Given the description of an element on the screen output the (x, y) to click on. 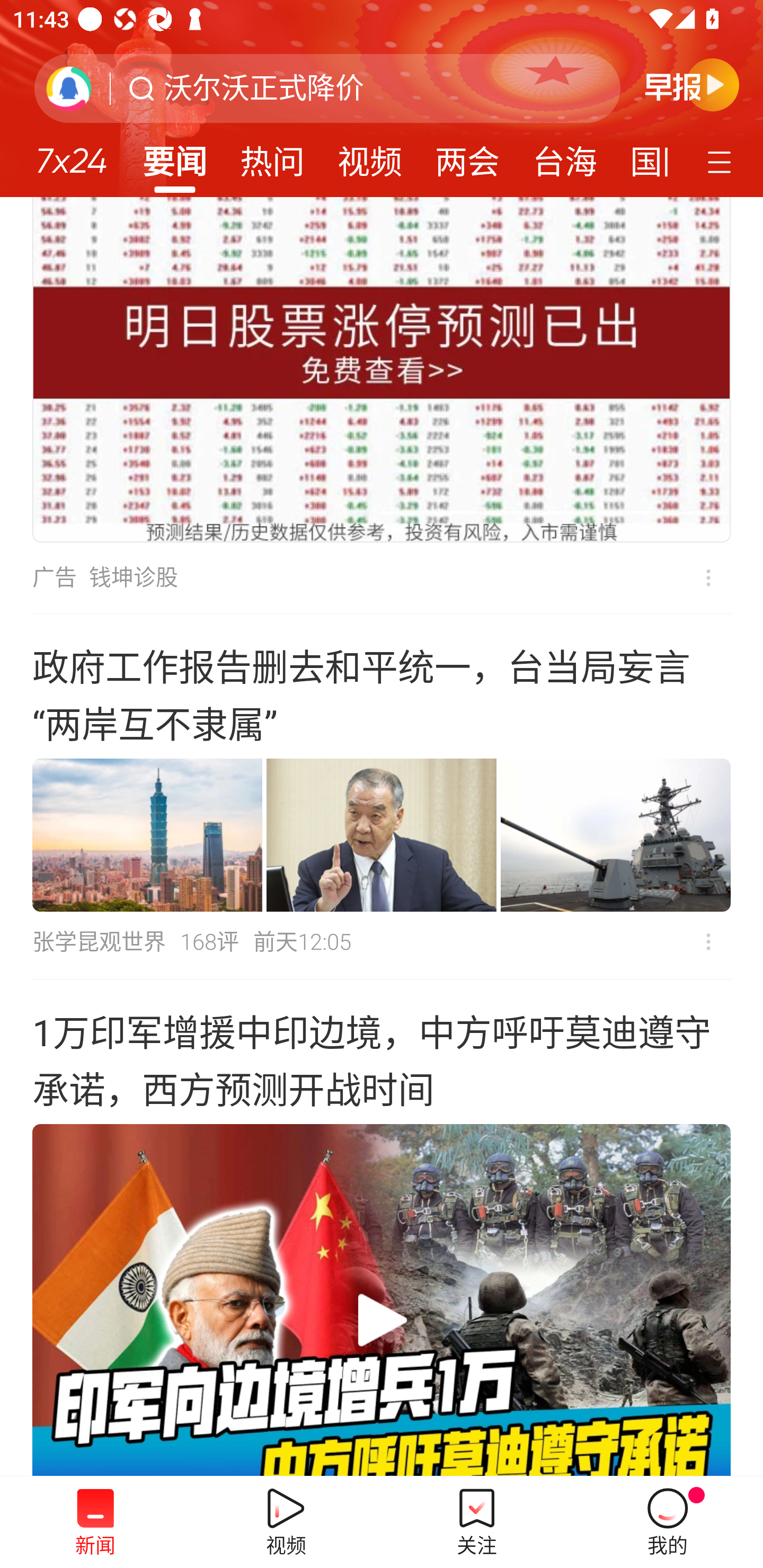
早晚报 (691, 84)
刷新 (68, 88)
沃尔沃正式降价 (263, 88)
7x24 (70, 154)
要闻 (174, 155)
热问 (272, 155)
视频 (369, 155)
两会 (466, 155)
台海 (564, 155)
 定制频道 (721, 160)
 不感兴趣 (694, 577)
广告 (54, 577)
钱坤诊股 (133, 577)
 不感兴趣 (707, 941)
1万印军增援中印边境，中方呼吁莫迪遵守承诺，西方预测开战时间  45.9万 05:03 (381, 1228)
